Given the description of an element on the screen output the (x, y) to click on. 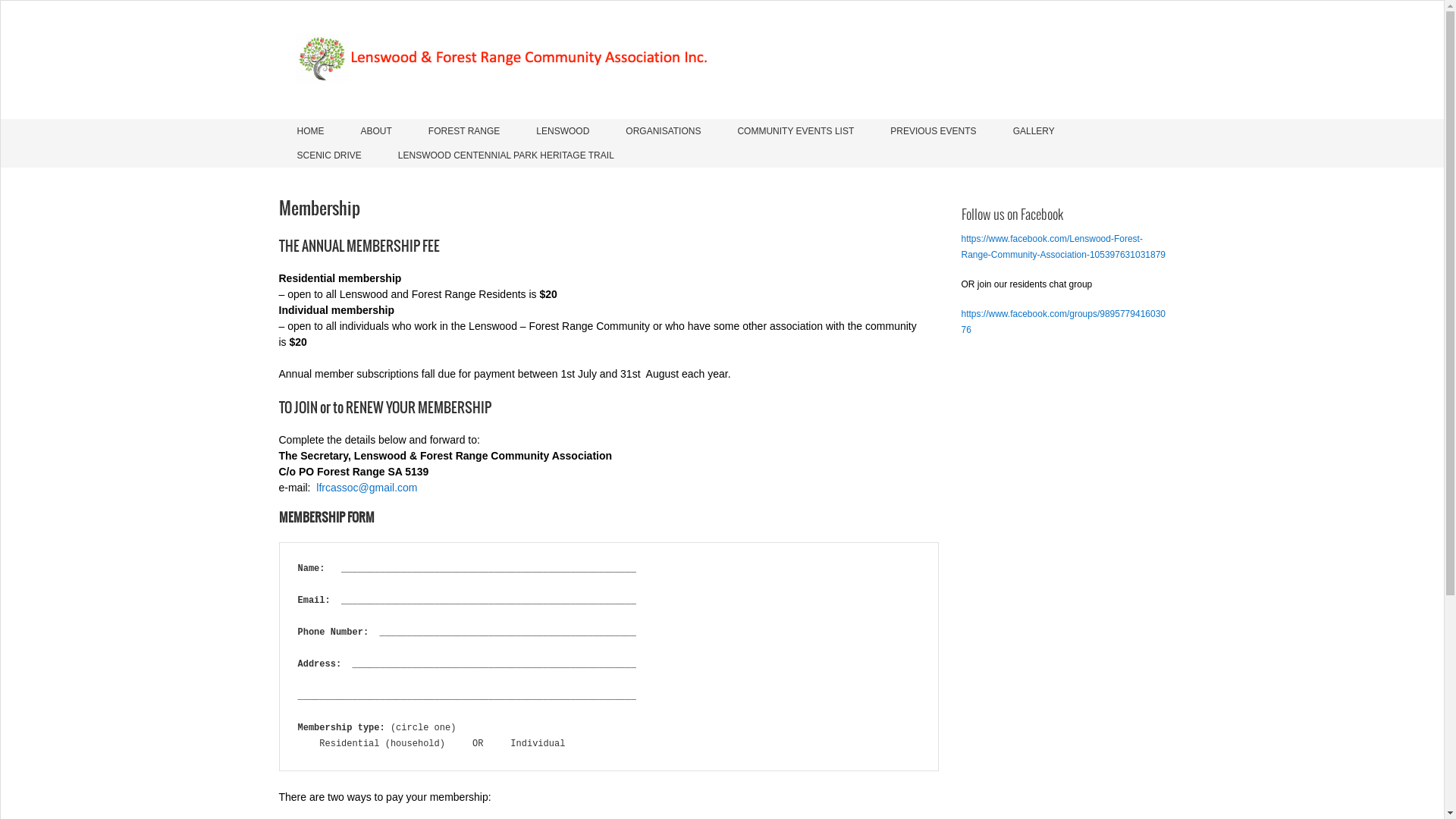
lfrcassoc@gmail.com Element type: text (366, 487)
PREVIOUS EVENTS Element type: text (933, 131)
ORGANISATIONS Element type: text (662, 131)
HOME Element type: text (310, 131)
https://www.facebook.com/groups/989577941603076 Element type: text (1063, 321)
SCENIC DRIVE Element type: text (329, 155)
COMMUNITY EVENTS LIST Element type: text (795, 131)
GALLERY Element type: text (1033, 131)
ABOUT Element type: text (376, 131)
LENSWOOD CENTENNIAL PARK HERITAGE TRAIL Element type: text (505, 155)
FOREST RANGE Element type: text (463, 131)
LENSWOOD Element type: text (562, 131)
